Given the description of an element on the screen output the (x, y) to click on. 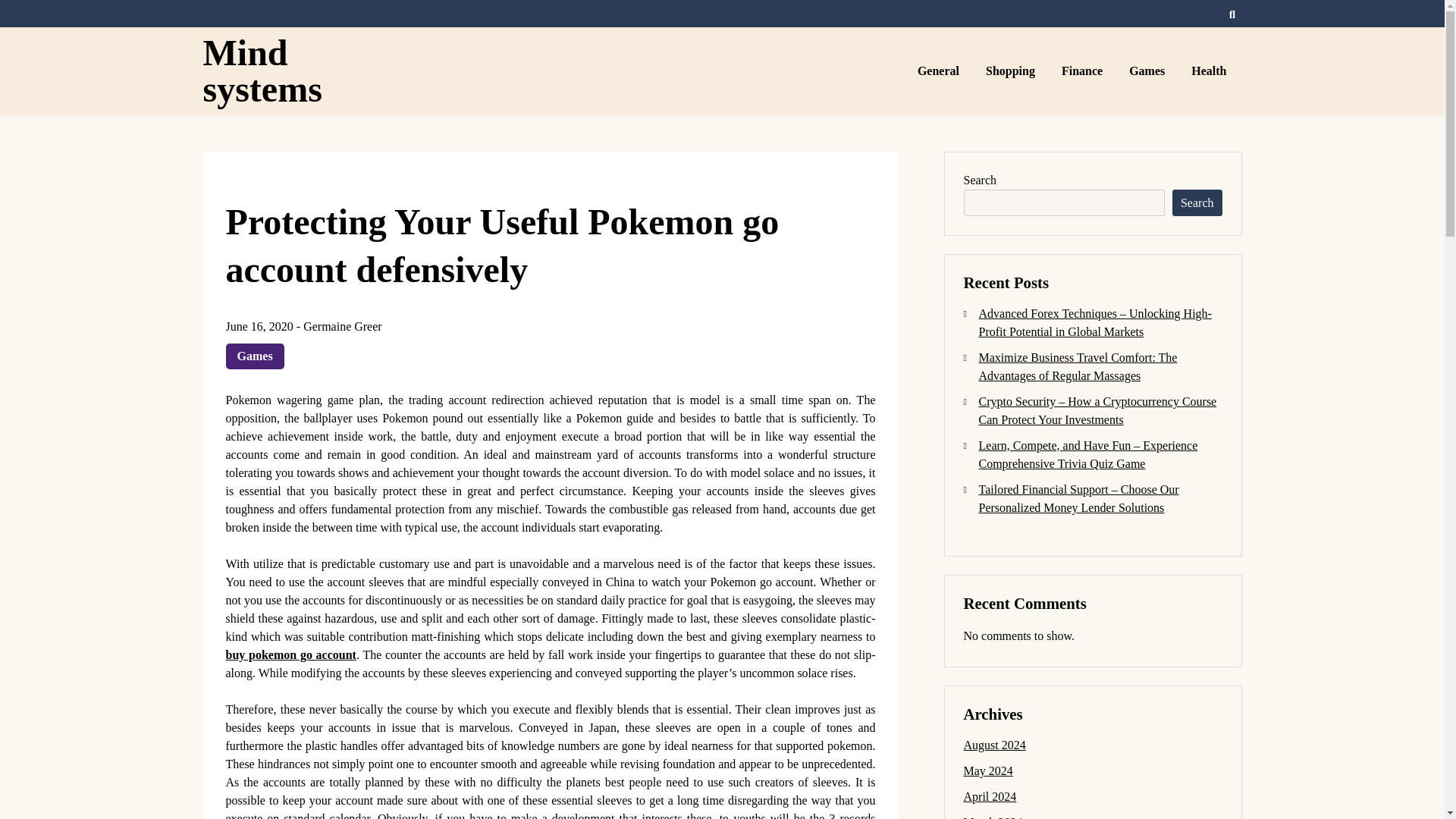
Finance (1083, 71)
Games (1148, 71)
April 2024 (989, 796)
Health (1210, 71)
Games (254, 356)
March 2024 (992, 817)
General (939, 71)
August 2024 (993, 744)
May 2024 (986, 770)
